Given the description of an element on the screen output the (x, y) to click on. 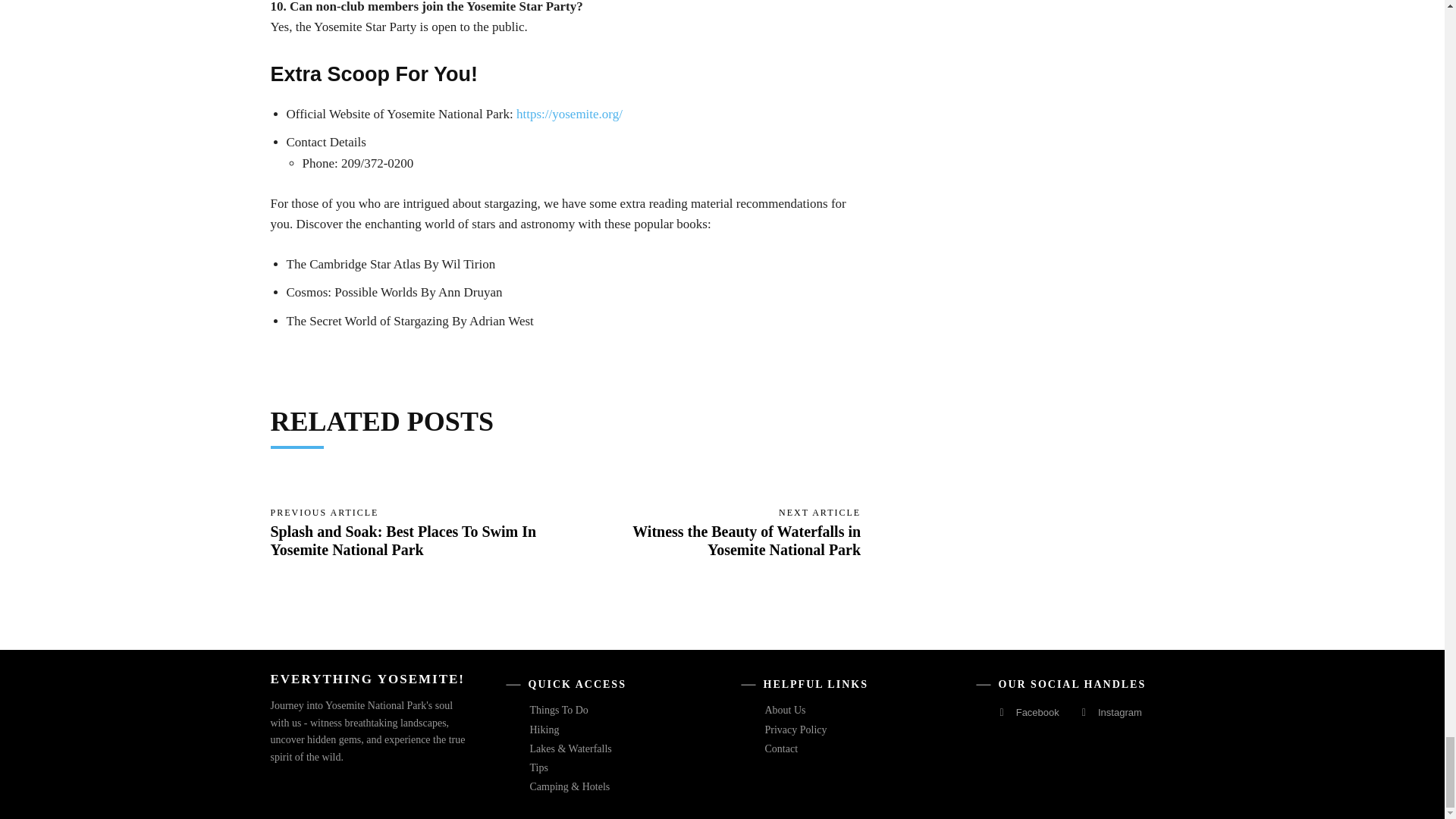
EVERYTHING YOSEMITE! (366, 678)
Witness the Beauty of Waterfalls in Yosemite National Park (745, 540)
Facebook (1000, 711)
